Given the description of an element on the screen output the (x, y) to click on. 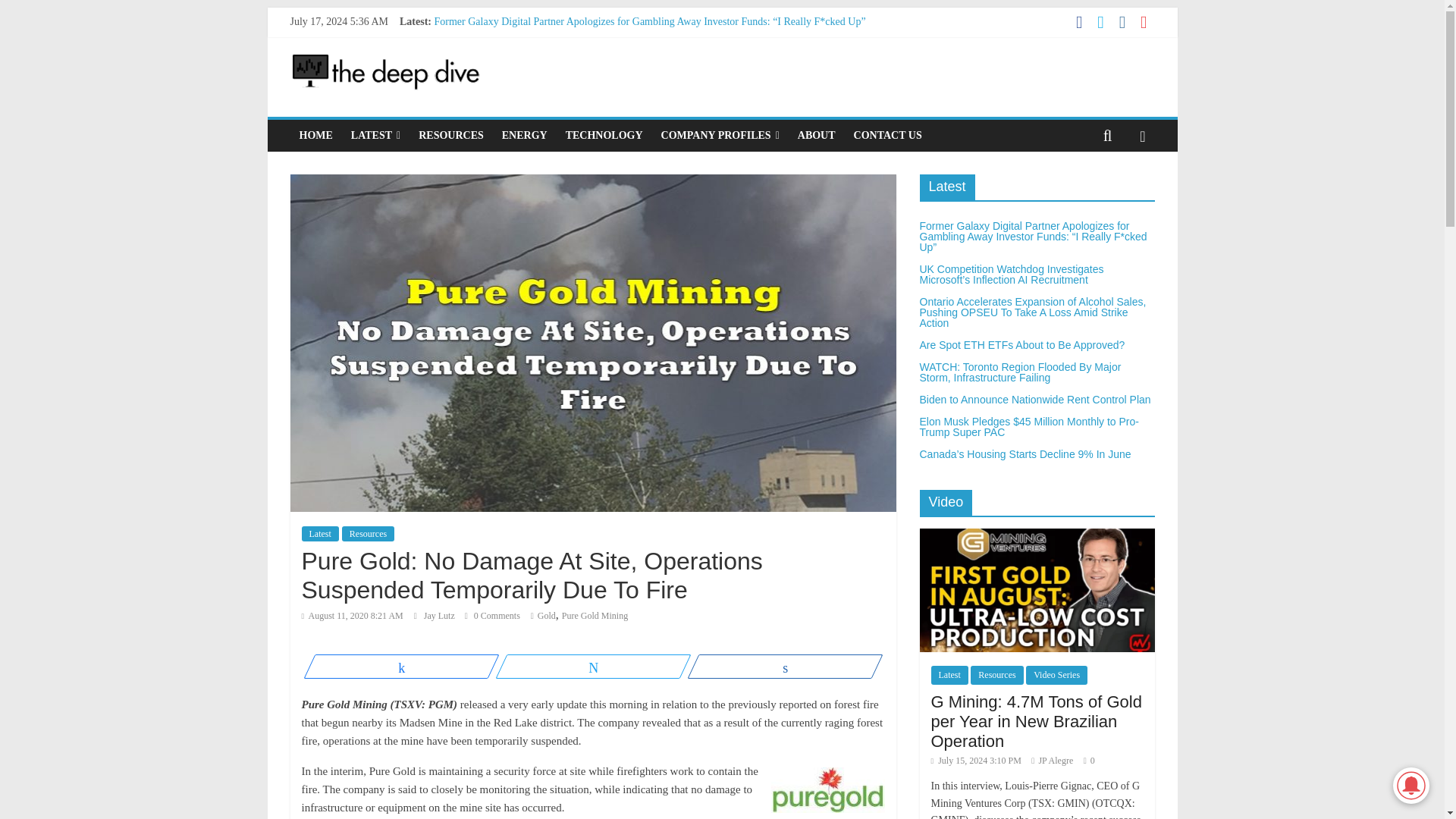
CONTACT US (887, 135)
Are Spot ETH ETFs About to Be Approved? (528, 71)
Jay Lutz (440, 615)
HOME (314, 135)
LATEST (375, 135)
ABOUT (816, 135)
ENERGY (524, 135)
RESOURCES (451, 135)
8:21 am (352, 615)
Are Spot ETH ETFs About to Be Approved? (528, 71)
TECHNOLOGY (604, 135)
COMPANY PROFILES (720, 135)
